Given the description of an element on the screen output the (x, y) to click on. 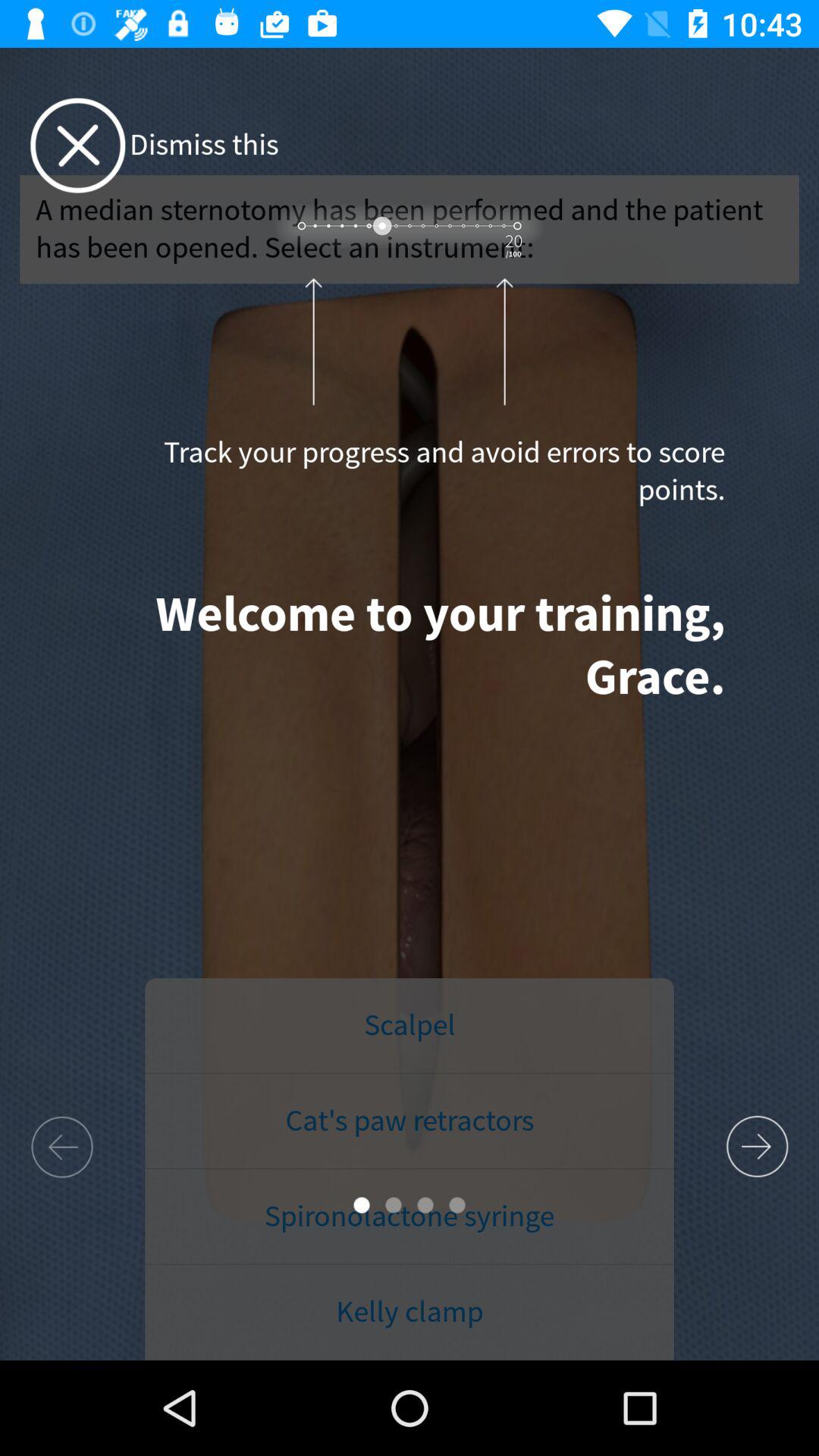
press the item above kelly clamp item (409, 1216)
